Given the description of an element on the screen output the (x, y) to click on. 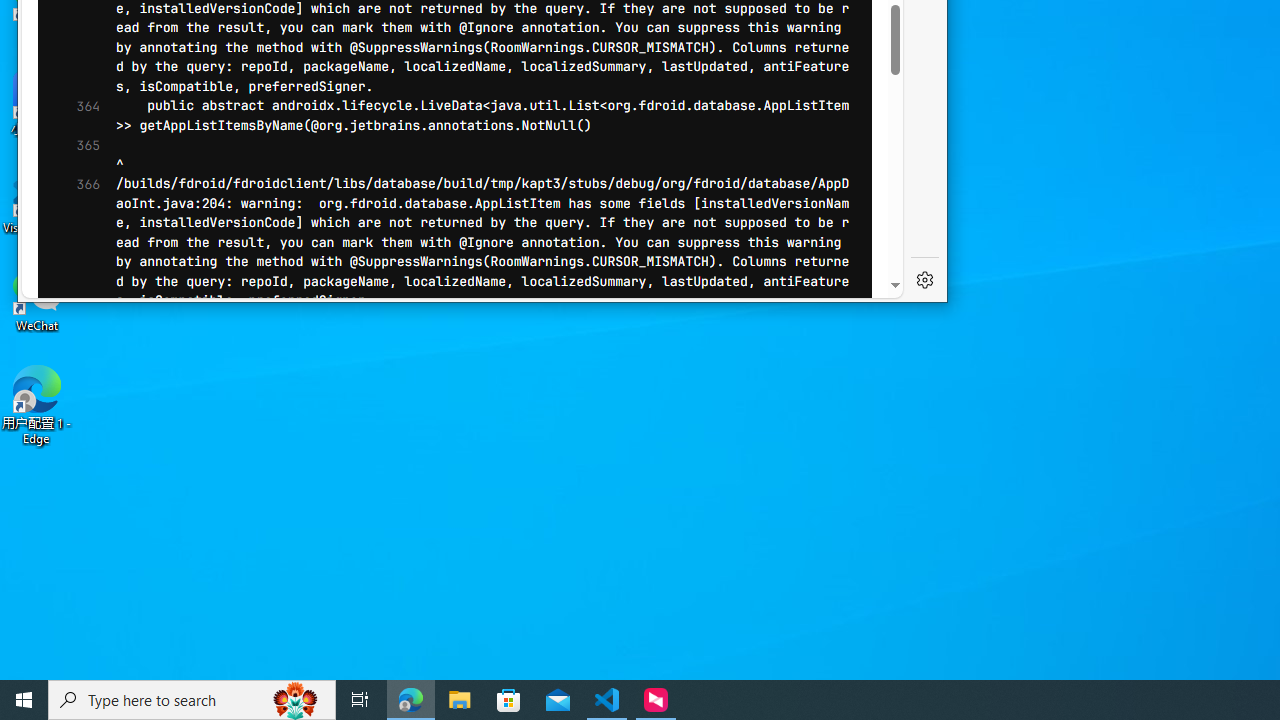
441 (73, 588)
434 (73, 197)
File Explorer (460, 699)
443 (73, 373)
417 (73, 120)
445 (73, 665)
450 (73, 511)
444 (73, 393)
Microsoft Edge - 1 running window (411, 699)
Visual Studio Code - 1 running window (607, 699)
439 (73, 295)
431 (73, 138)
